Given the description of an element on the screen output the (x, y) to click on. 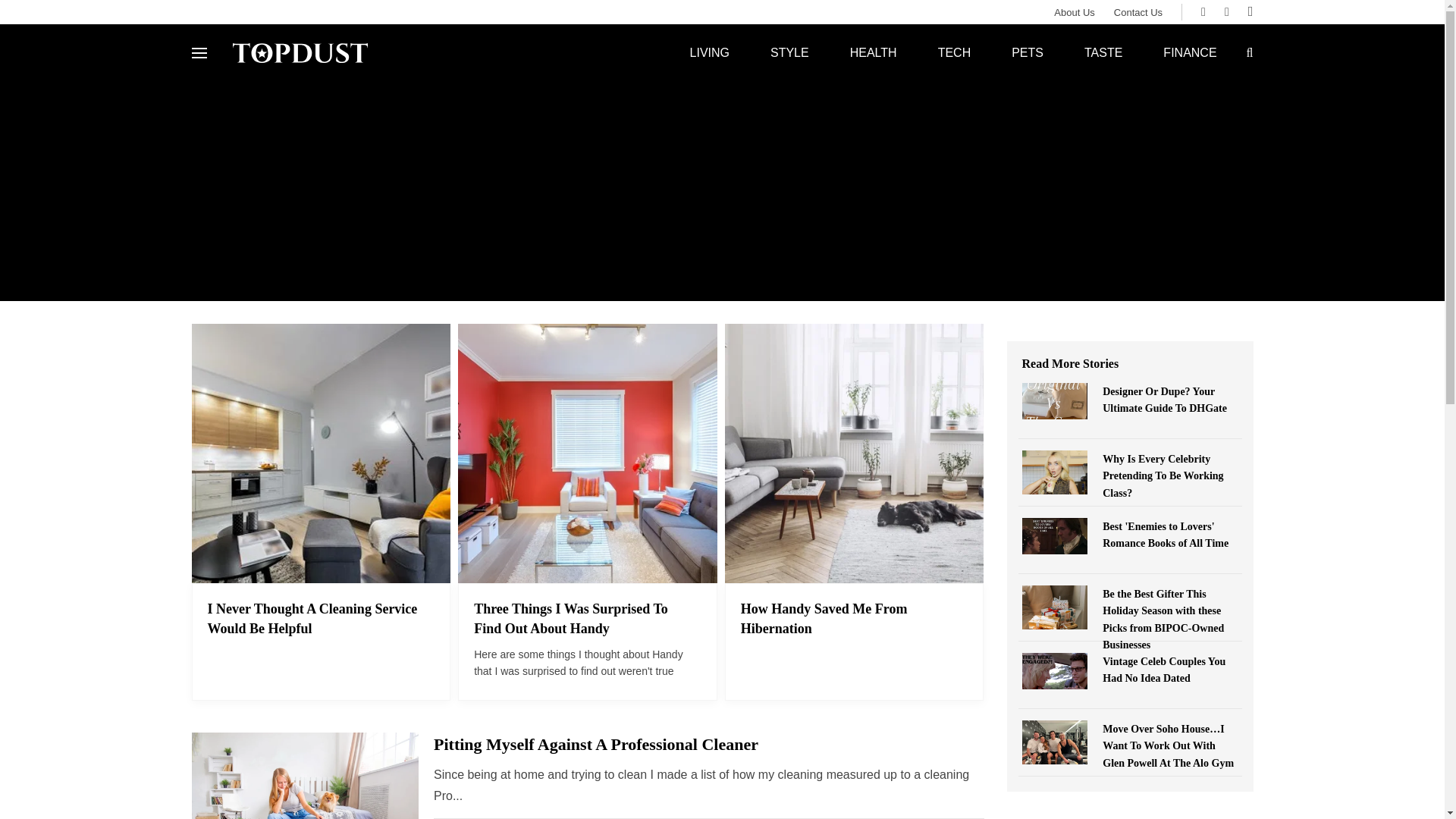
TECH (954, 52)
STYLE (789, 52)
PETS (1027, 52)
Contact Us (1127, 12)
FINANCE (1189, 52)
TASTE (1103, 52)
Logo (299, 51)
LIVING (709, 52)
About Us (1064, 12)
I Never Thought A Cleaning Service Would Be Helpful (312, 618)
HEALTH (873, 52)
